Given the description of an element on the screen output the (x, y) to click on. 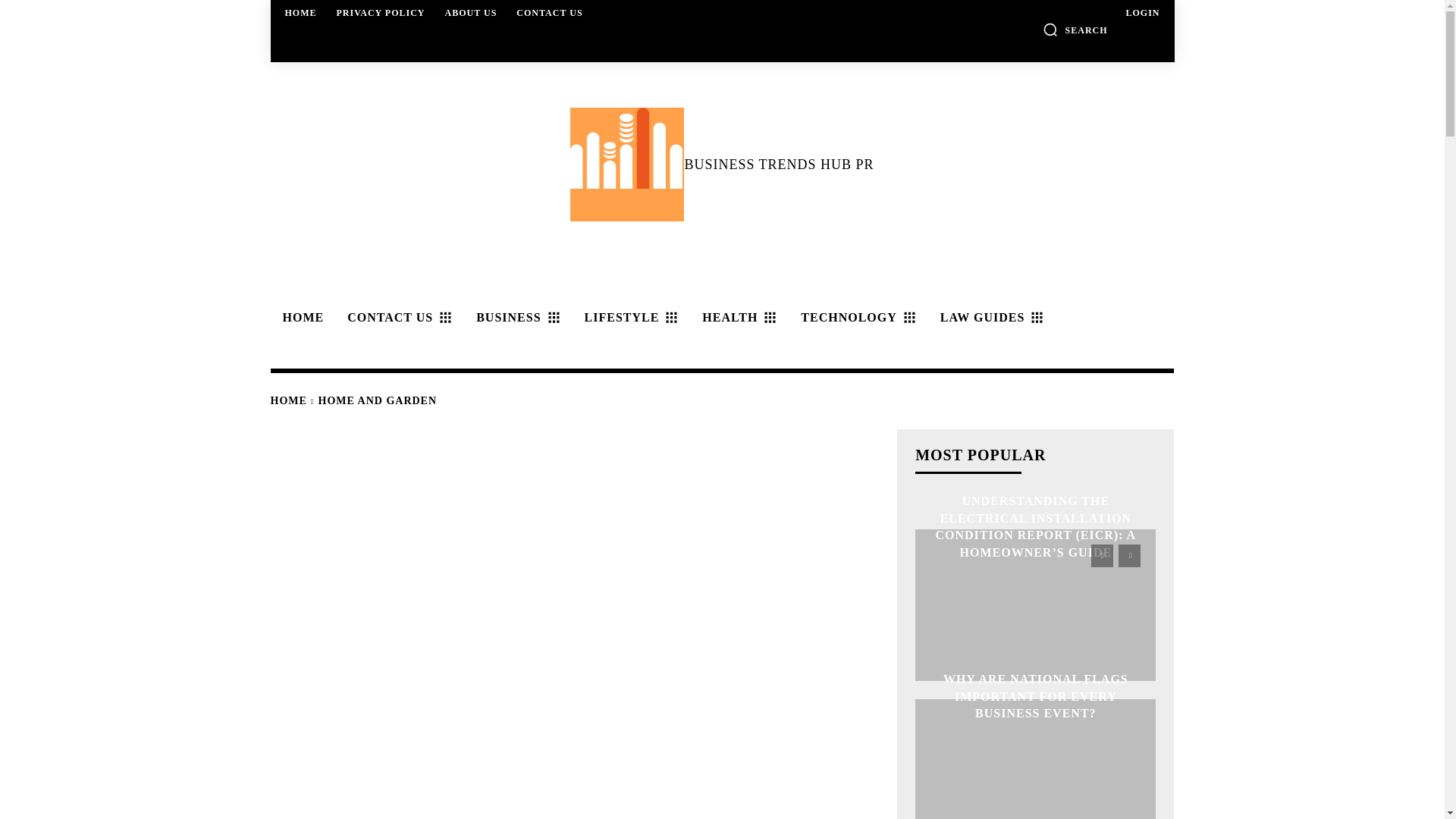
Business Trends Hub (627, 164)
HOME (301, 12)
BUSINESS TRENDS HUB PR (721, 164)
ABOUT US (471, 12)
PRIVACY POLICY (380, 12)
View all posts in Home and Garden (378, 400)
LOGIN (1141, 12)
SEARCH (1075, 29)
CONTACT US (548, 12)
HOME (300, 317)
